Given the description of an element on the screen output the (x, y) to click on. 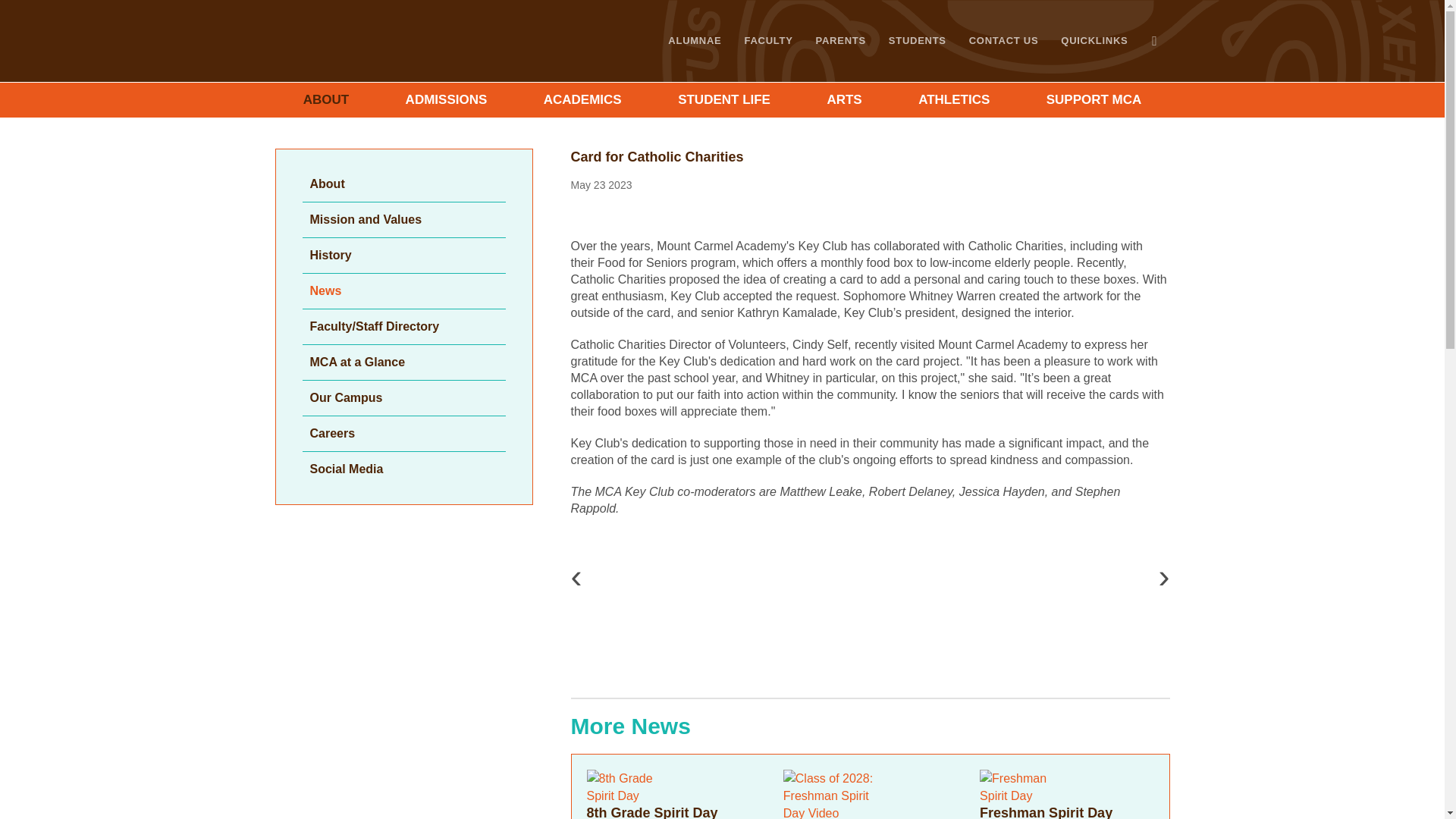
STUDENTS (917, 40)
School Name (451, 40)
PARENTS (841, 40)
FACULTY (767, 40)
CONTACT US (1003, 40)
ALUMNAE (694, 40)
